Given the description of an element on the screen output the (x, y) to click on. 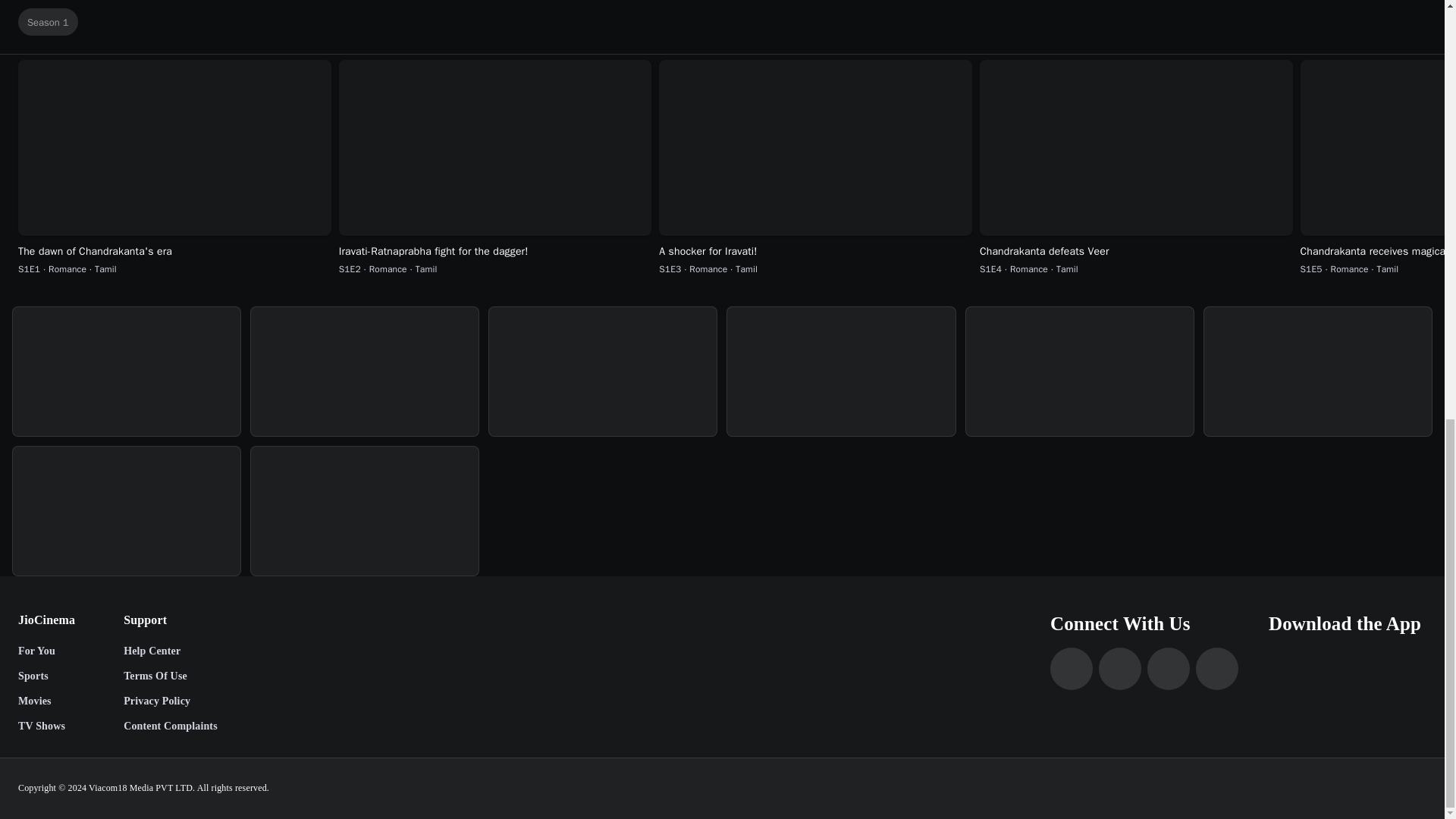
Terms Of Use (169, 676)
Season 1 (724, 21)
Season 1 (47, 22)
Content Complaints (169, 726)
Sports (46, 676)
Season 1 (724, 22)
TV Shows (46, 726)
Privacy Policy (169, 701)
Movies (46, 701)
Download the App (1347, 623)
Help Center (169, 651)
For You (46, 651)
